Given the description of an element on the screen output the (x, y) to click on. 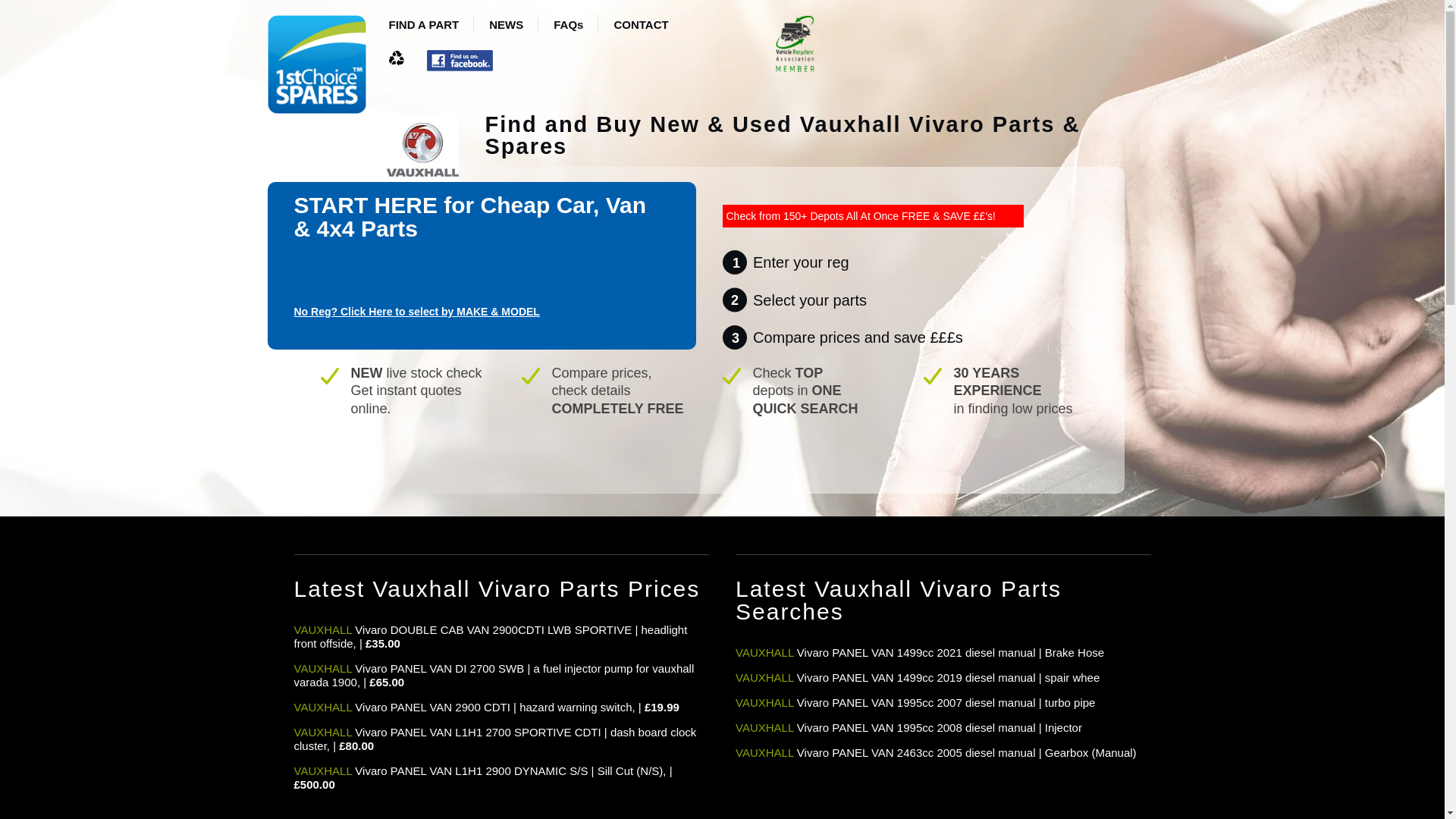
VAUXHALL (764, 676)
VAUXHALL (764, 652)
Reviews Widget (708, 447)
VAUXHALL (323, 731)
VAUXHALL (323, 770)
VAUXHALL (323, 629)
VAUXHALL (764, 752)
VAUXHALL (764, 727)
NEWS (505, 27)
CONTACT (640, 27)
